Given the description of an element on the screen output the (x, y) to click on. 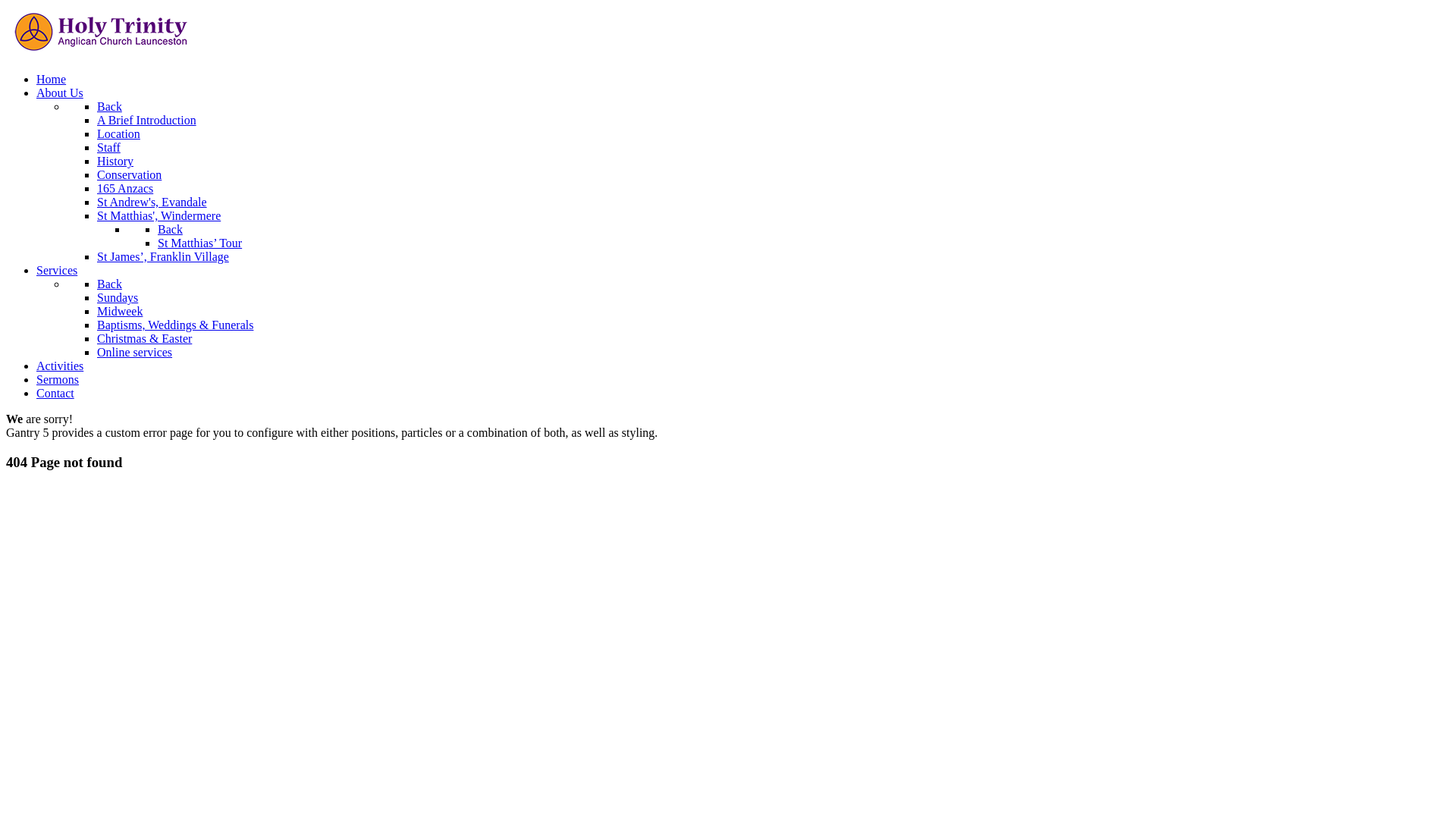
History Element type: text (115, 160)
Activities Element type: text (59, 365)
Flux Element type: hover (100, 53)
About Us Element type: text (59, 92)
Back Element type: text (109, 106)
Contact Element type: text (55, 392)
A Brief Introduction Element type: text (146, 119)
St Matthias', Windermere Element type: text (158, 215)
Conservation Element type: text (129, 174)
St Andrew's, Evandale Element type: text (152, 201)
Staff Element type: text (108, 147)
Location Element type: text (118, 133)
Back Element type: text (109, 283)
Sermons Element type: text (57, 379)
Online services Element type: text (134, 351)
Christmas & Easter Element type: text (144, 338)
Home Element type: text (50, 78)
Services Element type: text (56, 269)
Back Element type: text (169, 228)
Sundays Element type: text (117, 297)
Midweek Element type: text (119, 310)
Baptisms, Weddings & Funerals Element type: text (175, 324)
165 Anzacs Element type: text (125, 188)
